Given the description of an element on the screen output the (x, y) to click on. 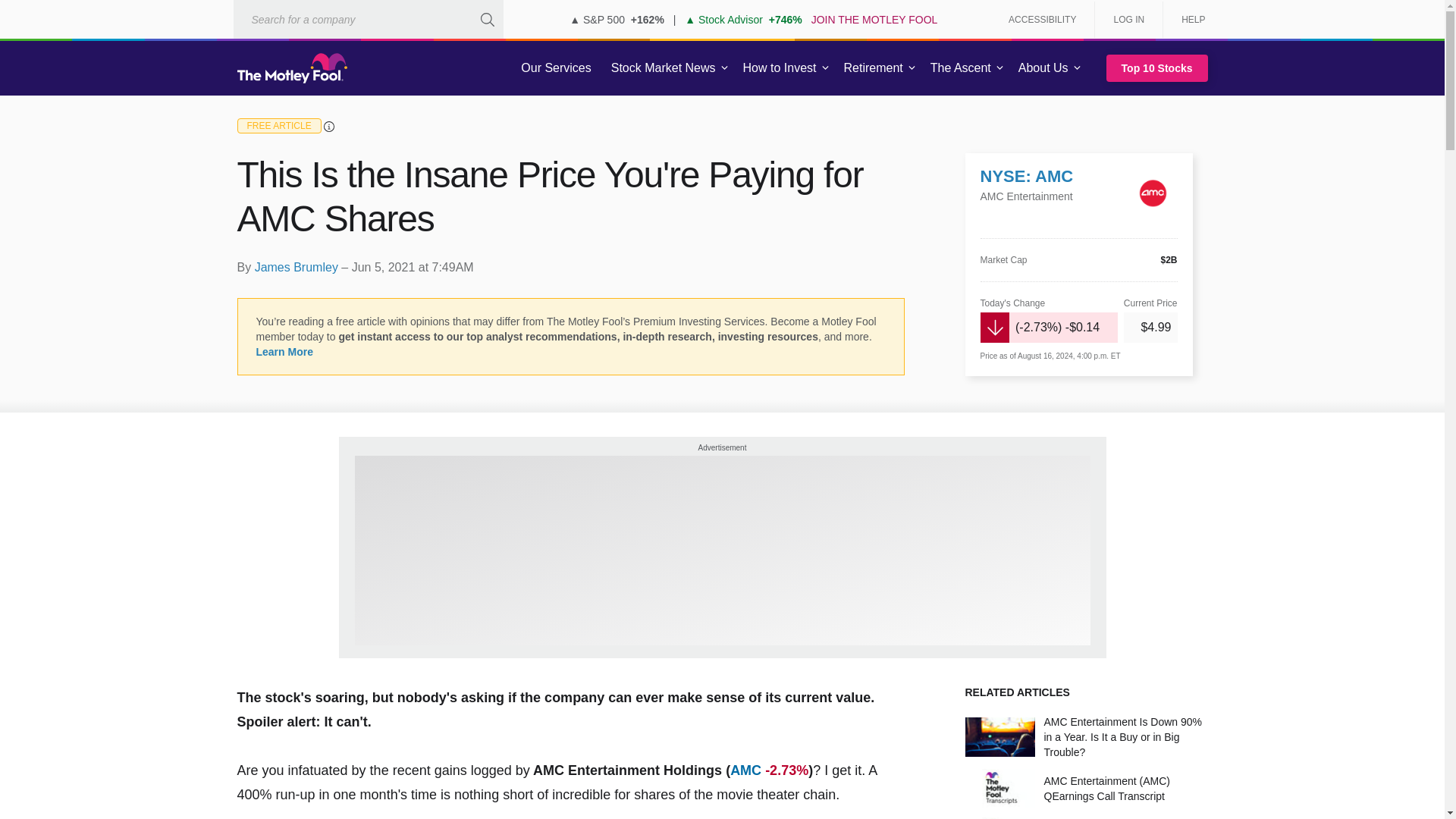
ACCESSIBILITY (1042, 19)
LOG IN (1128, 19)
HELP (1187, 19)
Our Services (555, 67)
Stock Market News (662, 67)
How to Invest (779, 67)
